Given the description of an element on the screen output the (x, y) to click on. 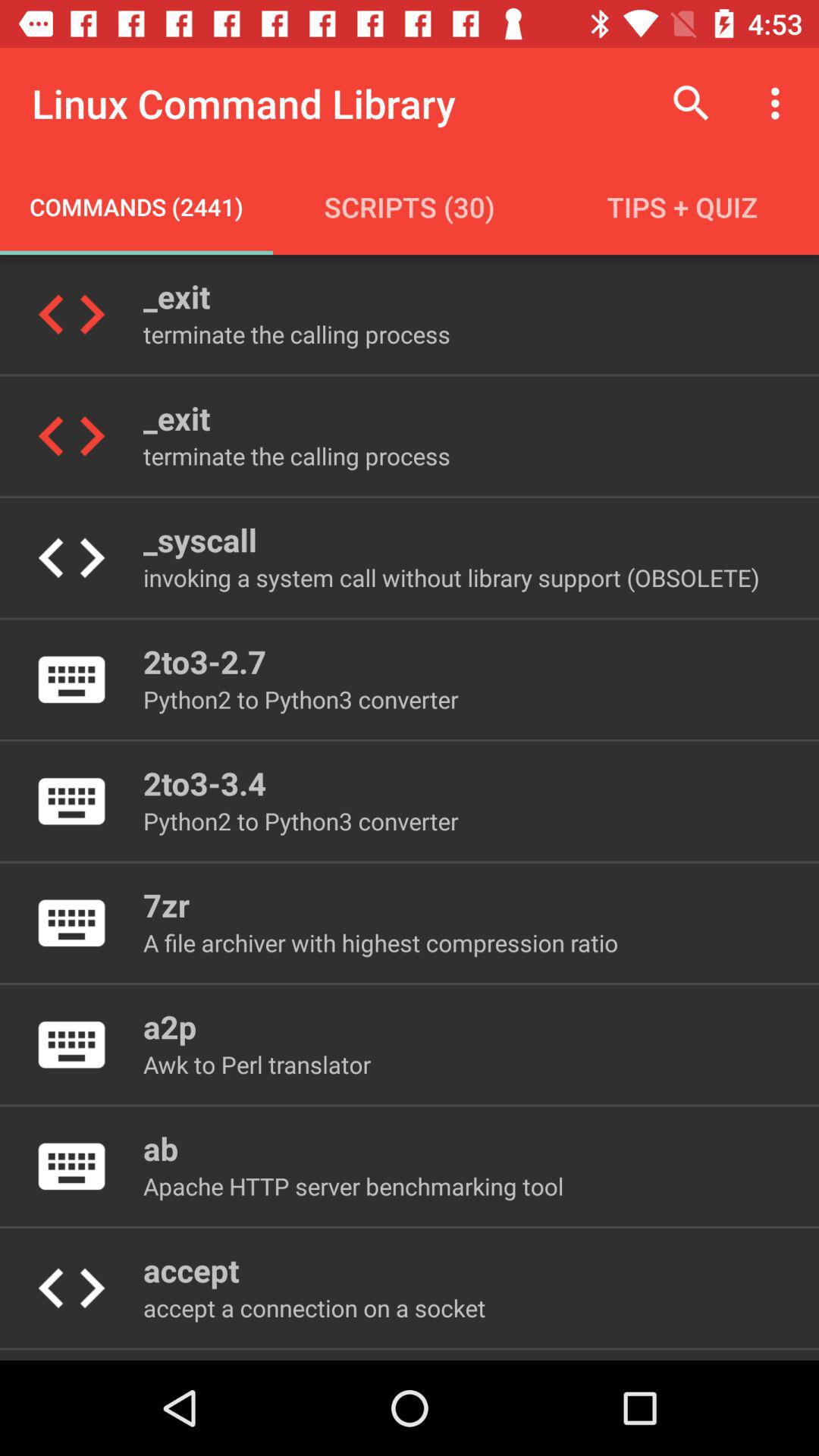
open the a2p item (169, 1026)
